Given the description of an element on the screen output the (x, y) to click on. 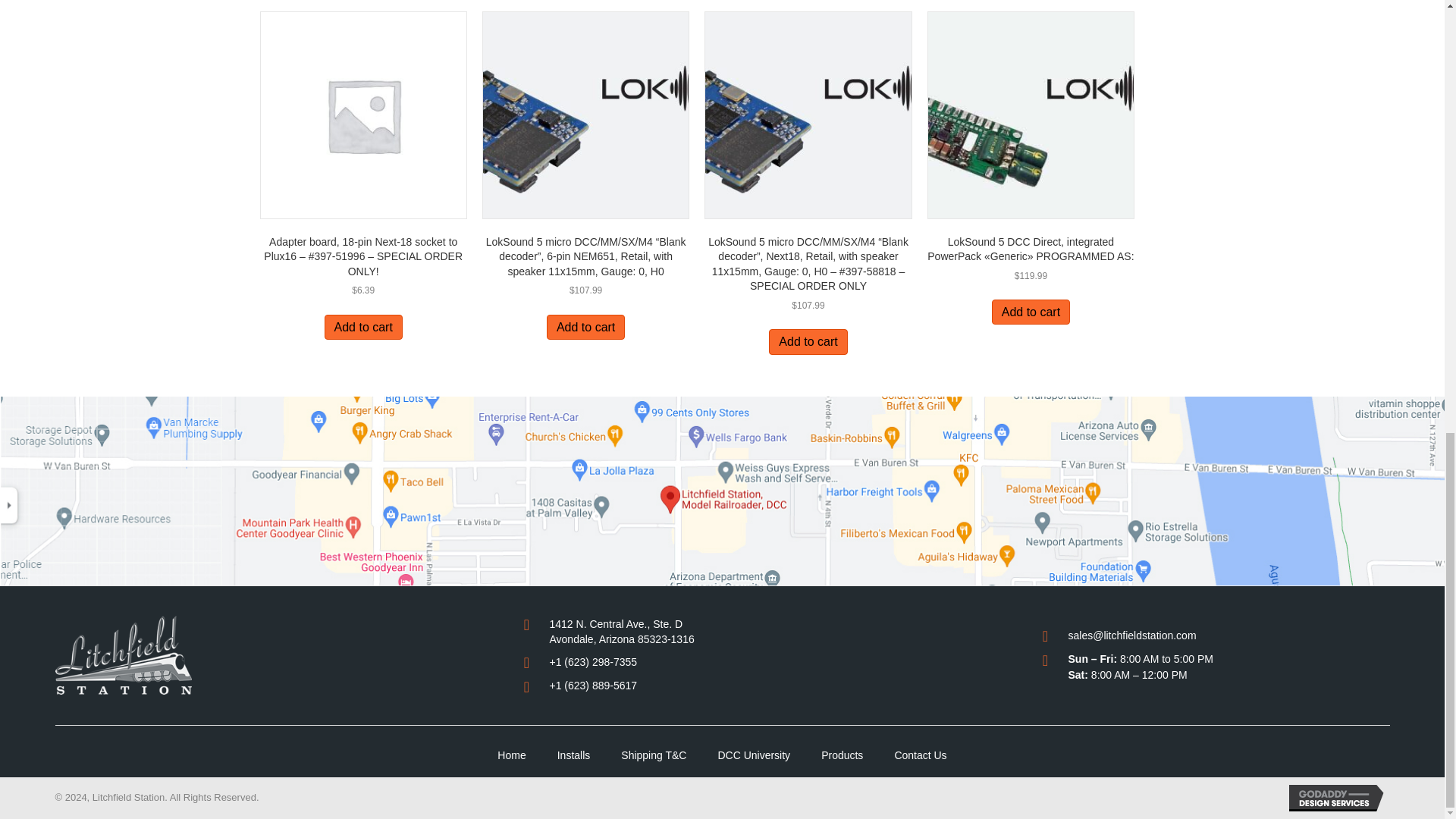
Add to cart (807, 341)
Add to cart (363, 326)
Add to cart (585, 326)
logo-2 (122, 654)
